Given the description of an element on the screen output the (x, y) to click on. 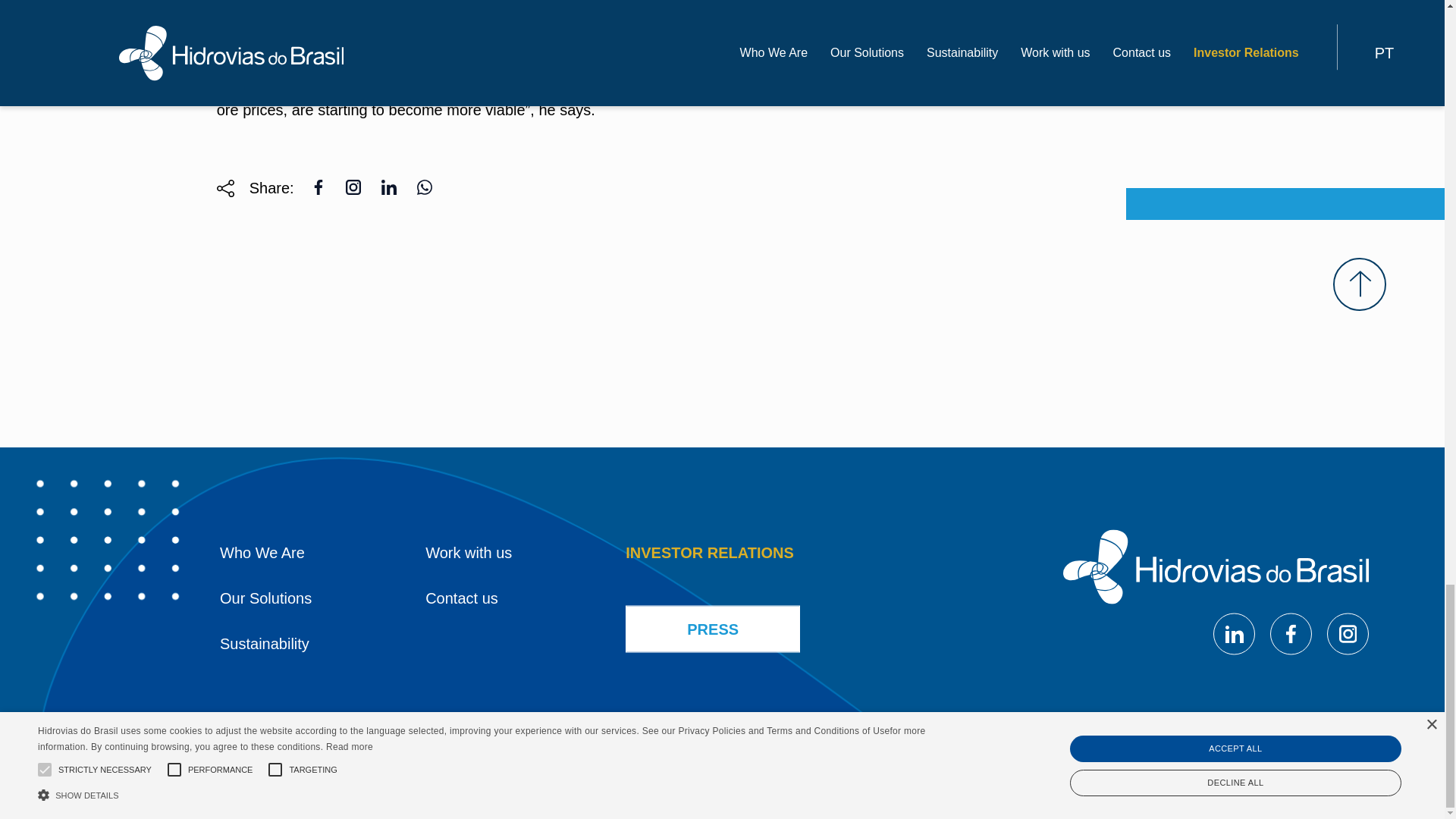
Our Solutions (265, 597)
Work with us (468, 551)
Who We Are (261, 551)
Contact us (461, 597)
PRESS (712, 628)
Sustainability (263, 642)
INVESTOR RELATIONS (709, 551)
